Given the description of an element on the screen output the (x, y) to click on. 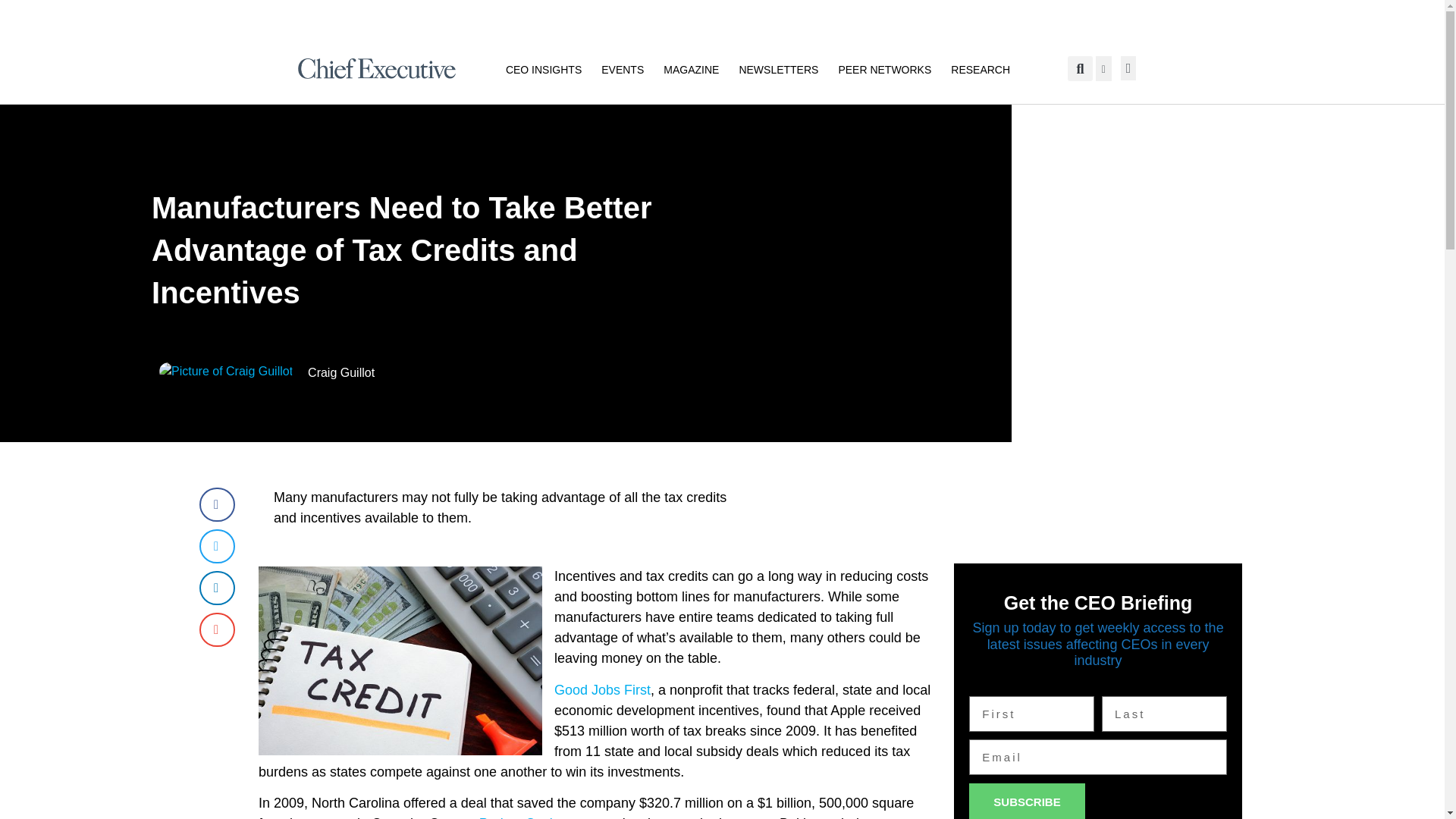
PEER NETWORKS (884, 68)
MAGAZINE (691, 68)
RESEARCH (980, 68)
NEWSLETTERS (778, 68)
tax credits and incentives (400, 660)
CEO INSIGHTS (543, 68)
EVENTS (622, 68)
